Given the description of an element on the screen output the (x, y) to click on. 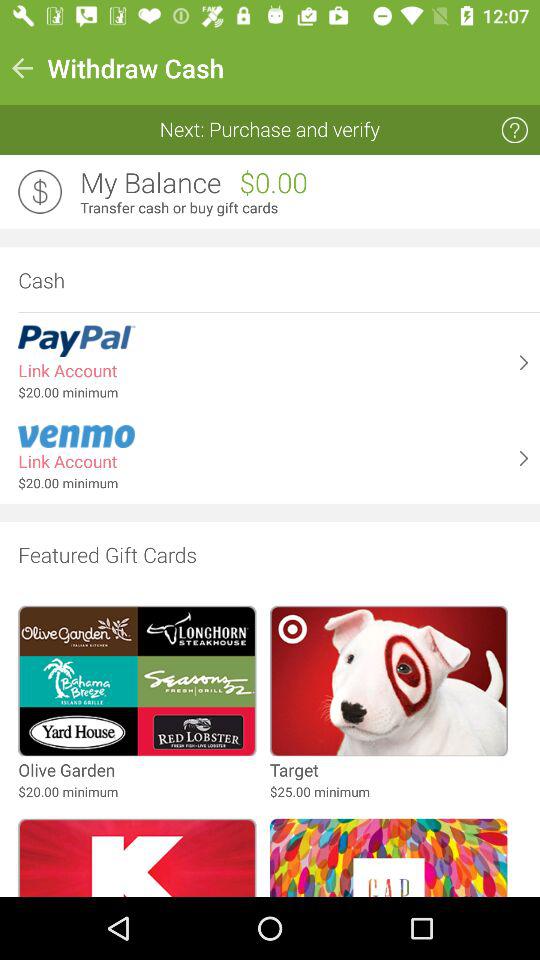
launch the transfer cash or item (304, 208)
